Given the description of an element on the screen output the (x, y) to click on. 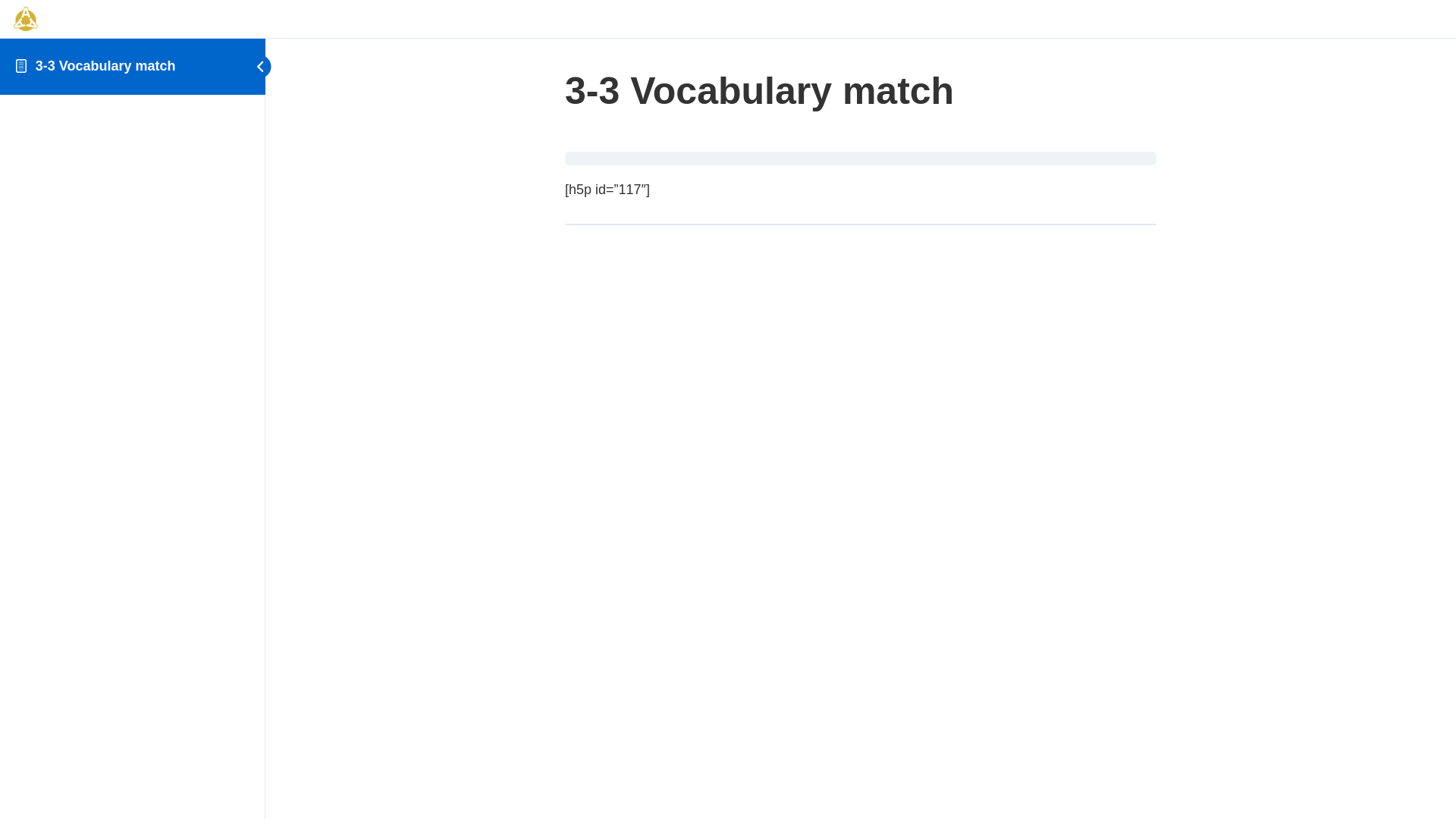
3-3 Vocabulary match Element type: text (105, 65)
